Given the description of an element on the screen output the (x, y) to click on. 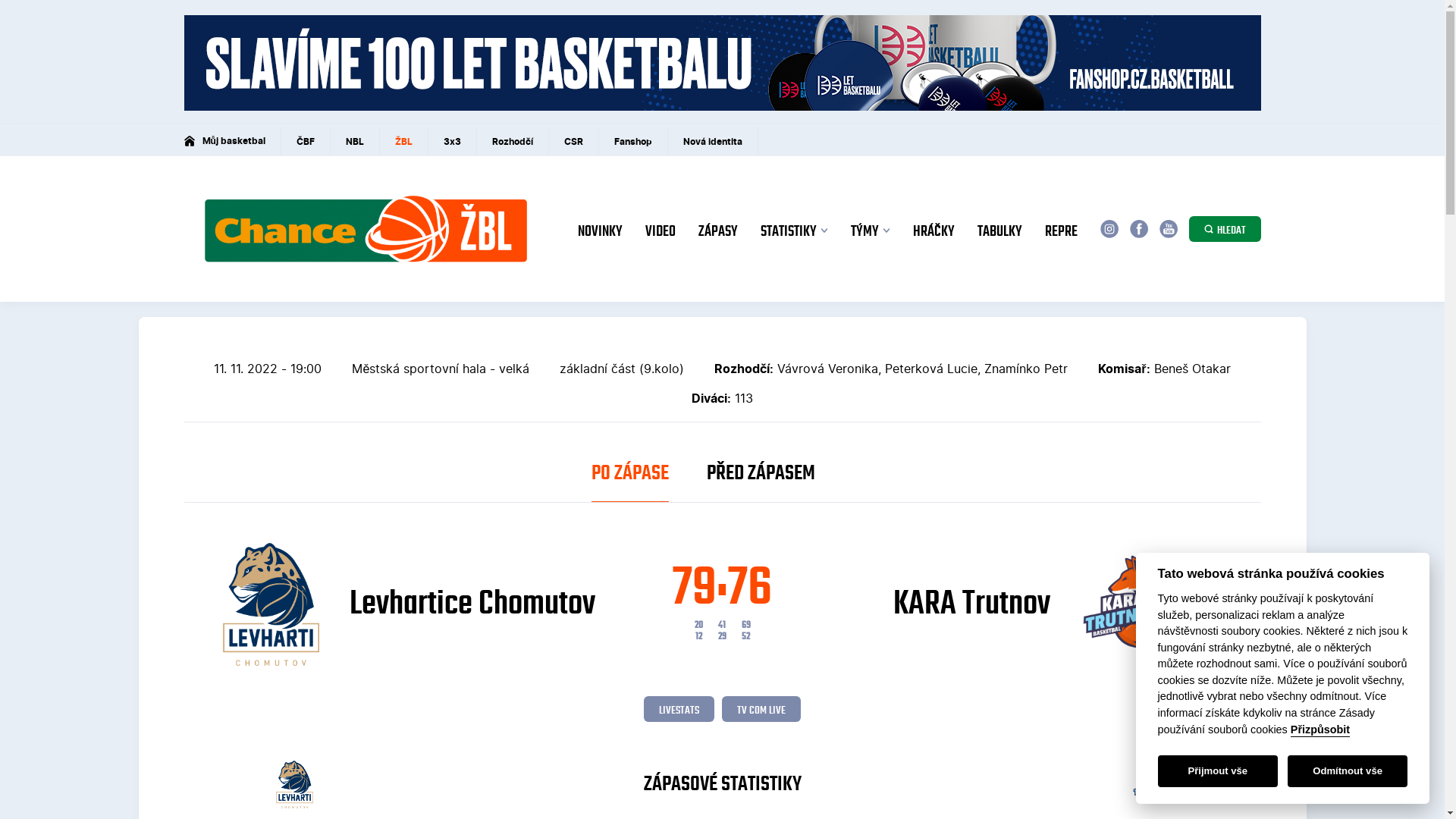
VIDEO Element type: text (659, 232)
Youtube Element type: text (1167, 228)
TV COM LIVE Element type: text (760, 708)
NOVINKY Element type: text (599, 232)
KARA Trutnov Element type: text (1036, 603)
NBL Element type: text (354, 140)
Fanshop Element type: text (633, 140)
Levhartice Chomutov Element type: text (408, 602)
CSR Element type: text (574, 140)
STATISTIKY Element type: text (793, 232)
REPRE Element type: text (1060, 232)
3x3 Element type: text (452, 140)
LIVESTATS Element type: text (678, 708)
Instagram Element type: text (1108, 228)
TABULKY Element type: text (998, 232)
Facebook Element type: text (1138, 228)
HLEDAT Element type: text (1225, 228)
